Given the description of an element on the screen output the (x, y) to click on. 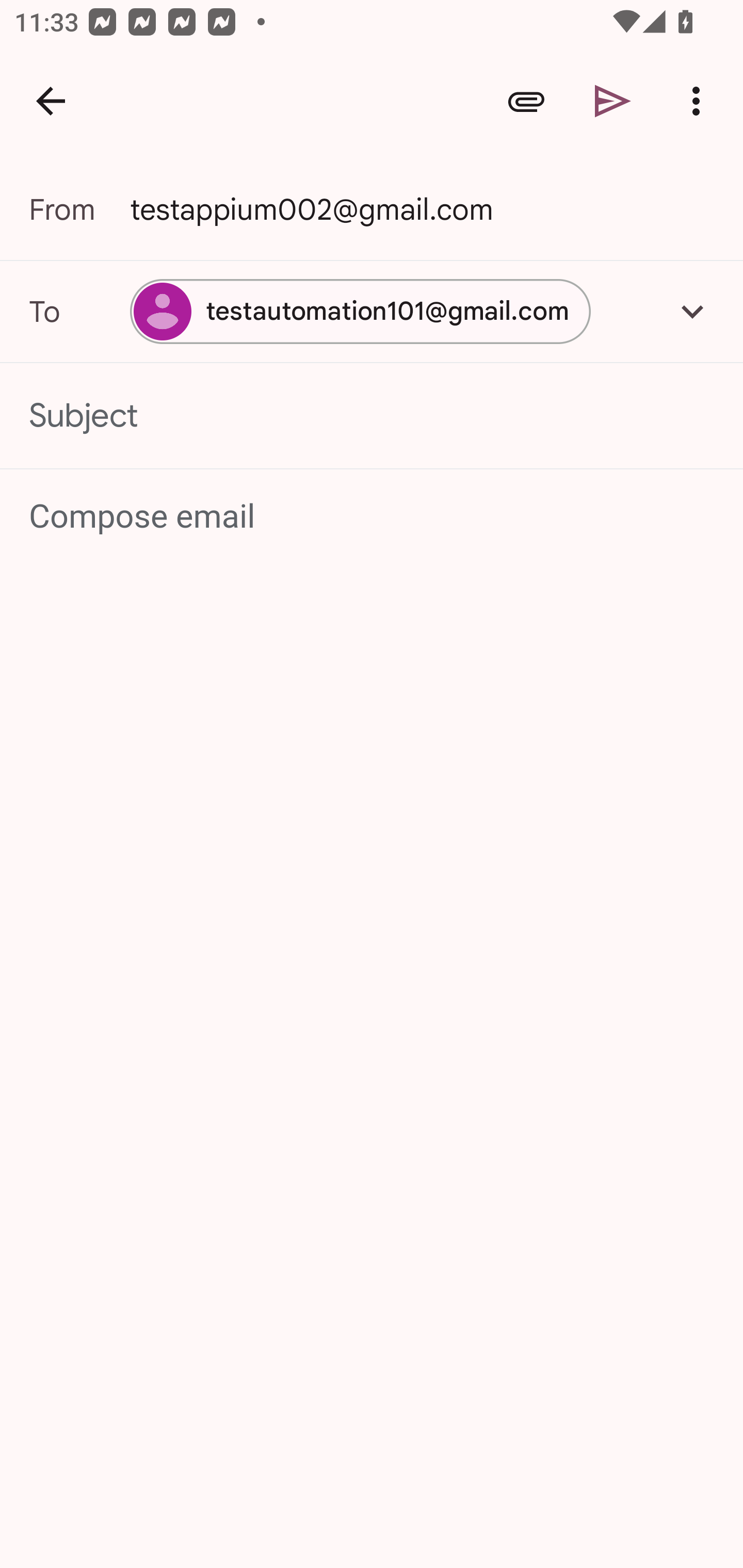
Navigate up (50, 101)
Attach file (525, 101)
Send (612, 101)
More options (699, 101)
From (79, 209)
Add Cc/Bcc (692, 311)
Subject (371, 415)
Compose email (372, 517)
